Given the description of an element on the screen output the (x, y) to click on. 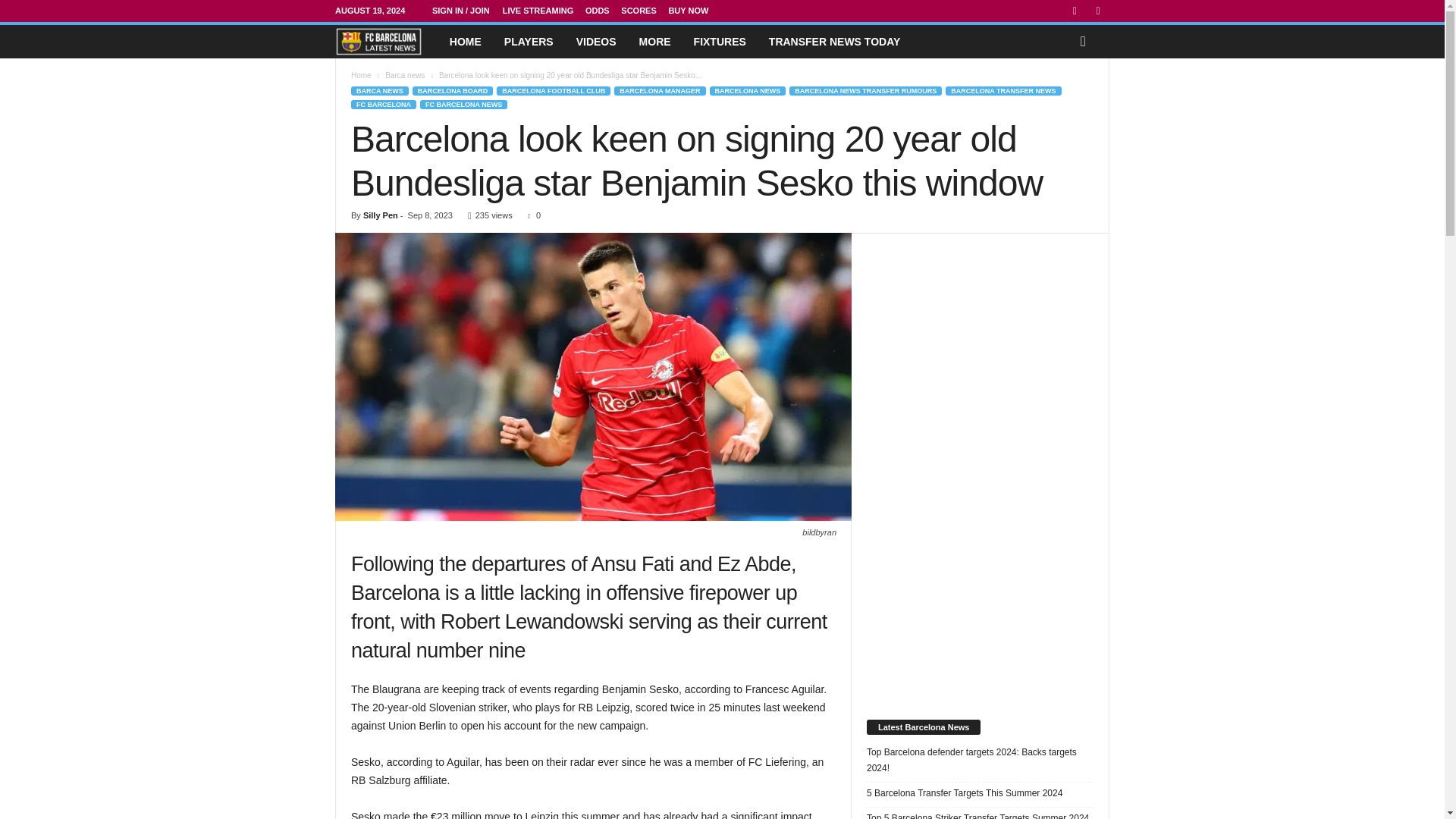
SCORES (638, 10)
LIVE STREAMING (537, 10)
BUY NOW (687, 10)
FC Barcelona Latest News Now Today Morning (378, 41)
ODDS (597, 10)
View all posts in Barca news (405, 75)
